Given the description of an element on the screen output the (x, y) to click on. 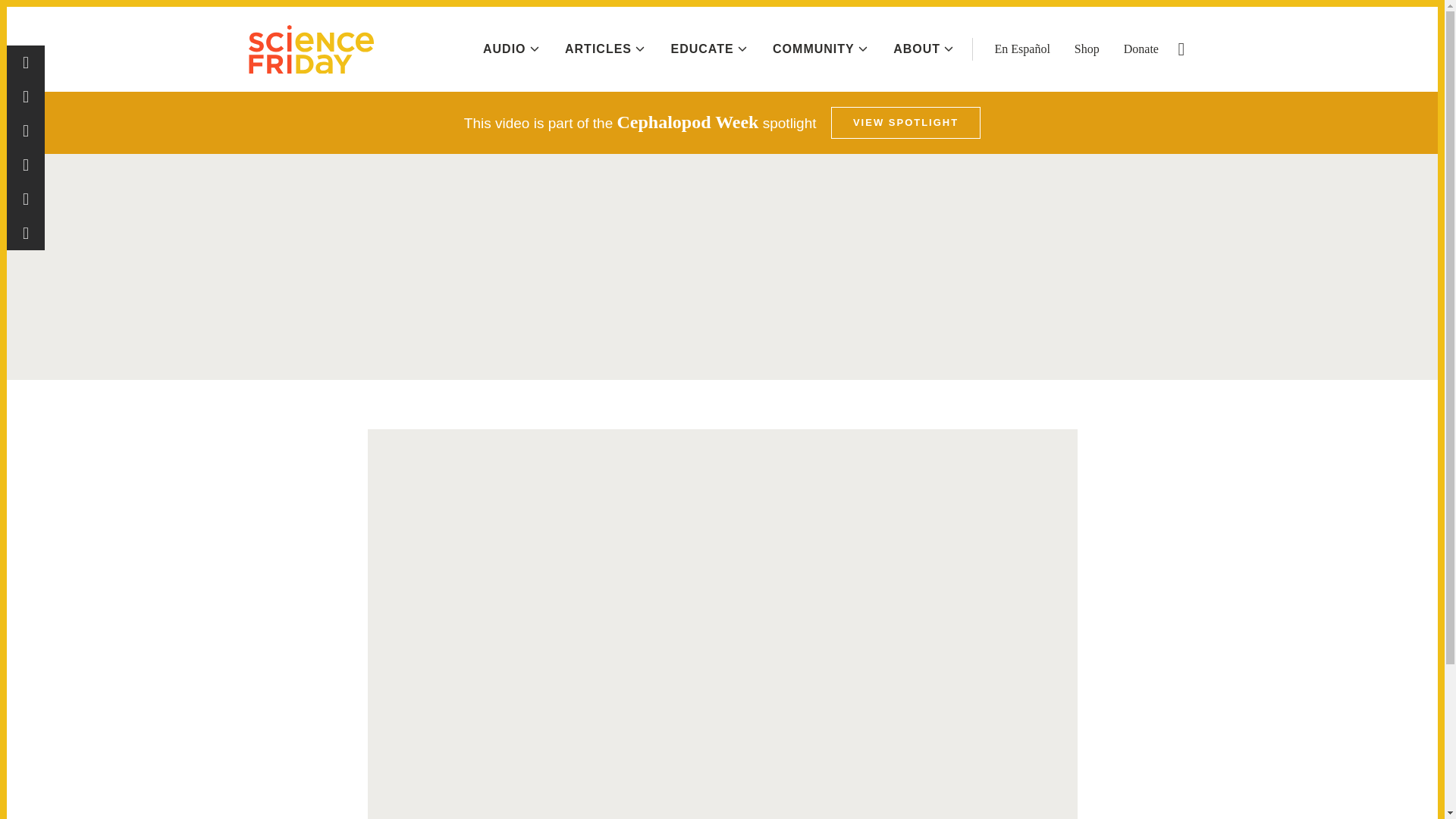
Science Friday (311, 49)
Cephalopod Week (905, 122)
X (26, 130)
Donate (1141, 48)
Email (26, 233)
ABOUT (923, 48)
COMMUNITY (820, 48)
Facebook (26, 62)
Bluesky (26, 164)
ARTICLES (604, 48)
